Given the description of an element on the screen output the (x, y) to click on. 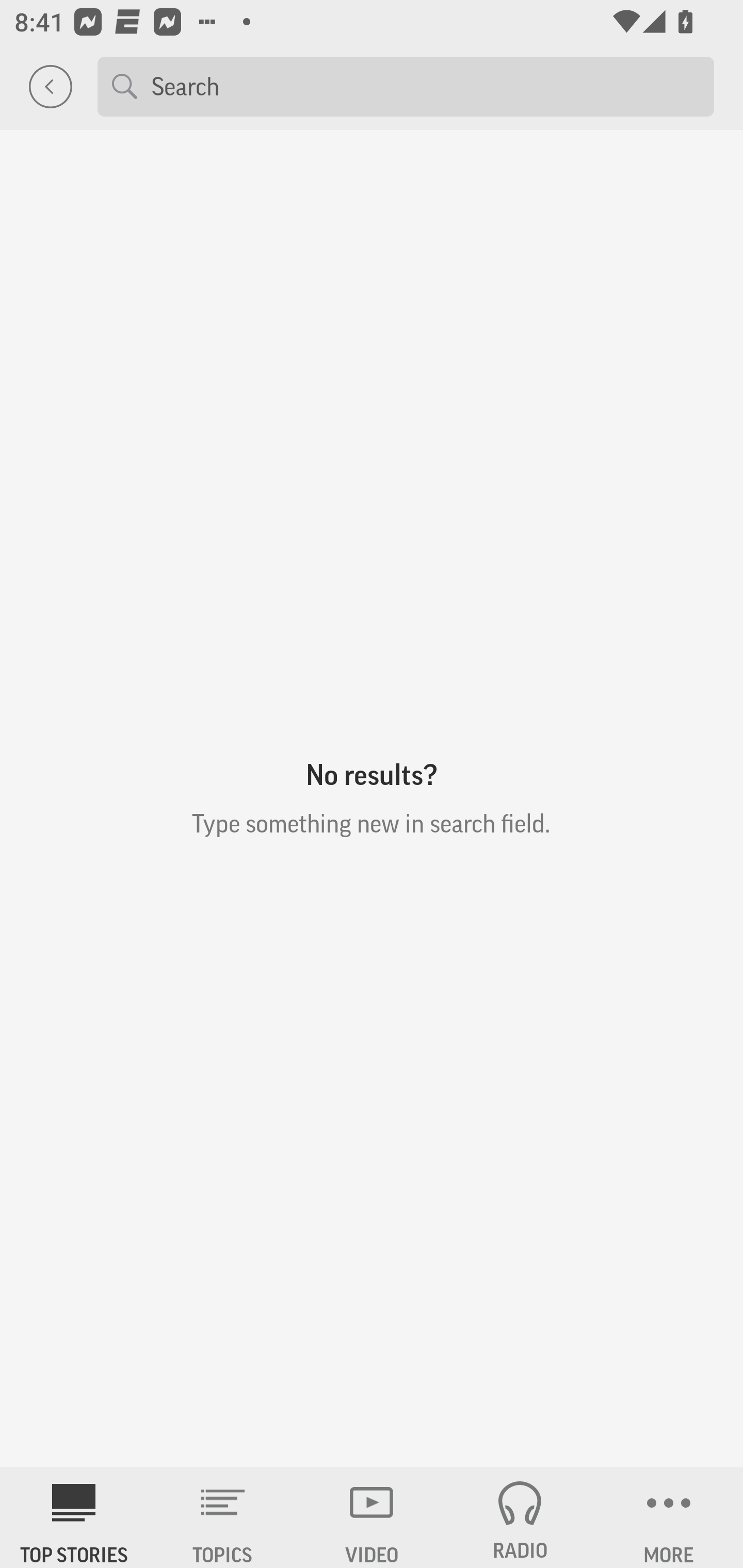
Search (425, 86)
AP News TOP STORIES (74, 1517)
TOPICS (222, 1517)
VIDEO (371, 1517)
RADIO (519, 1517)
MORE (668, 1517)
